Given the description of an element on the screen output the (x, y) to click on. 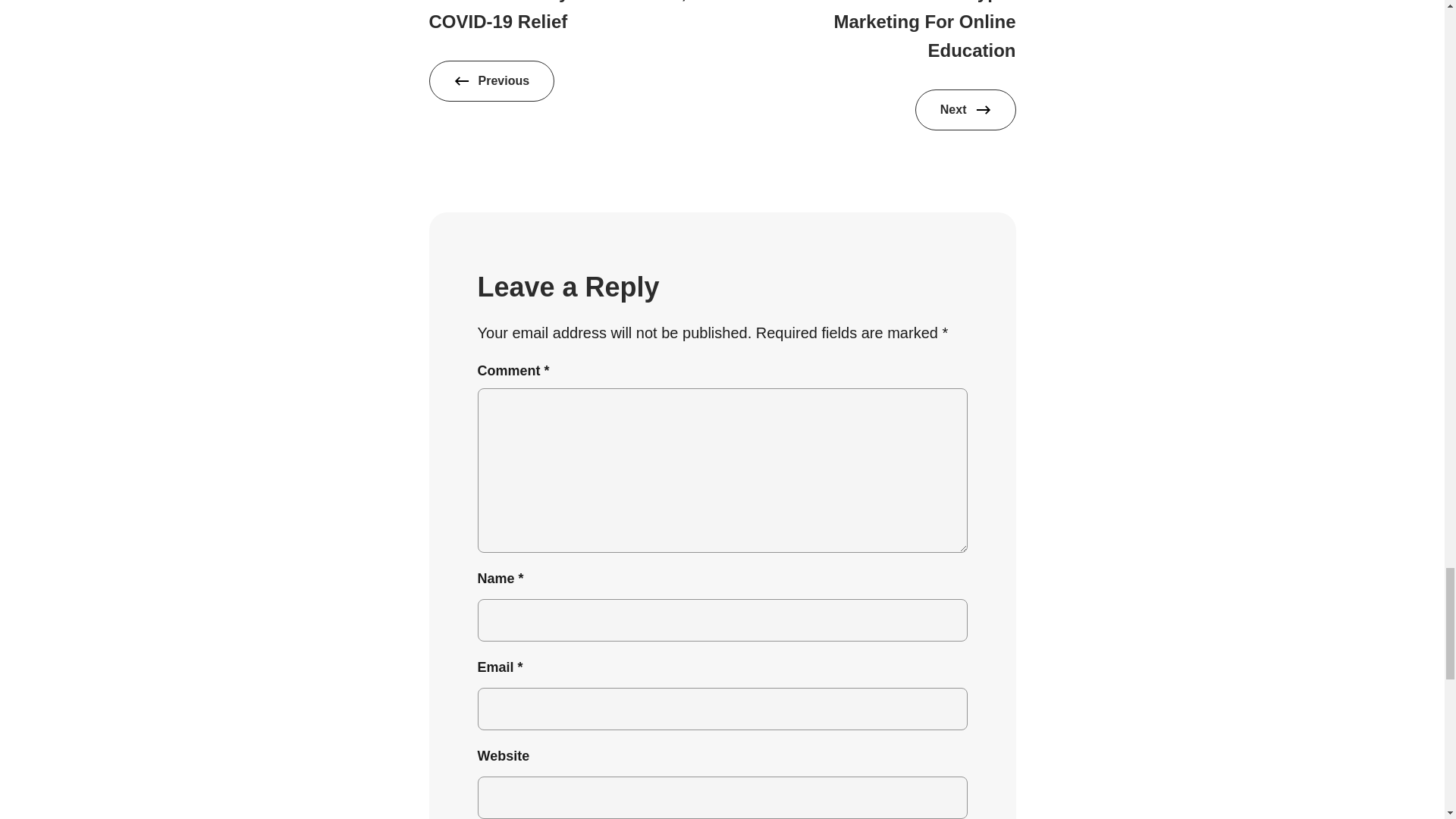
Next (965, 109)
Previous (491, 80)
FREE GiveAway Coronavirus, COVID-19 Relief (558, 15)
OnlineUniversities.Crypto Marketing For Online Education (904, 30)
